Given the description of an element on the screen output the (x, y) to click on. 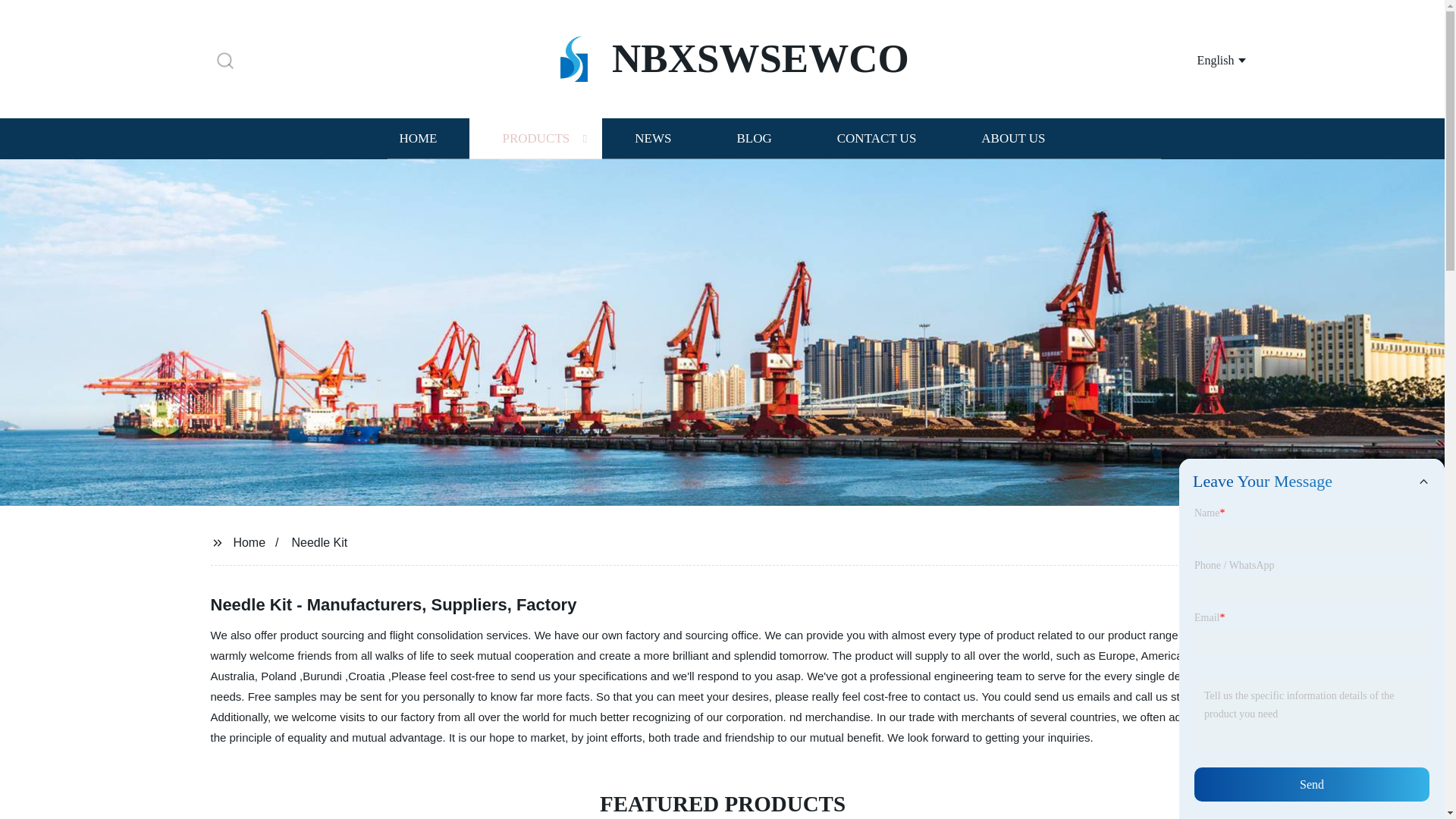
NEWS (652, 137)
PRODUCTS (535, 137)
Top (1404, 779)
ABOUT US (1013, 137)
CONTACT US (877, 137)
Home (248, 541)
English (1203, 59)
English (1203, 59)
Needle Kit (319, 541)
BLOG (753, 137)
HOME (417, 137)
